Given the description of an element on the screen output the (x, y) to click on. 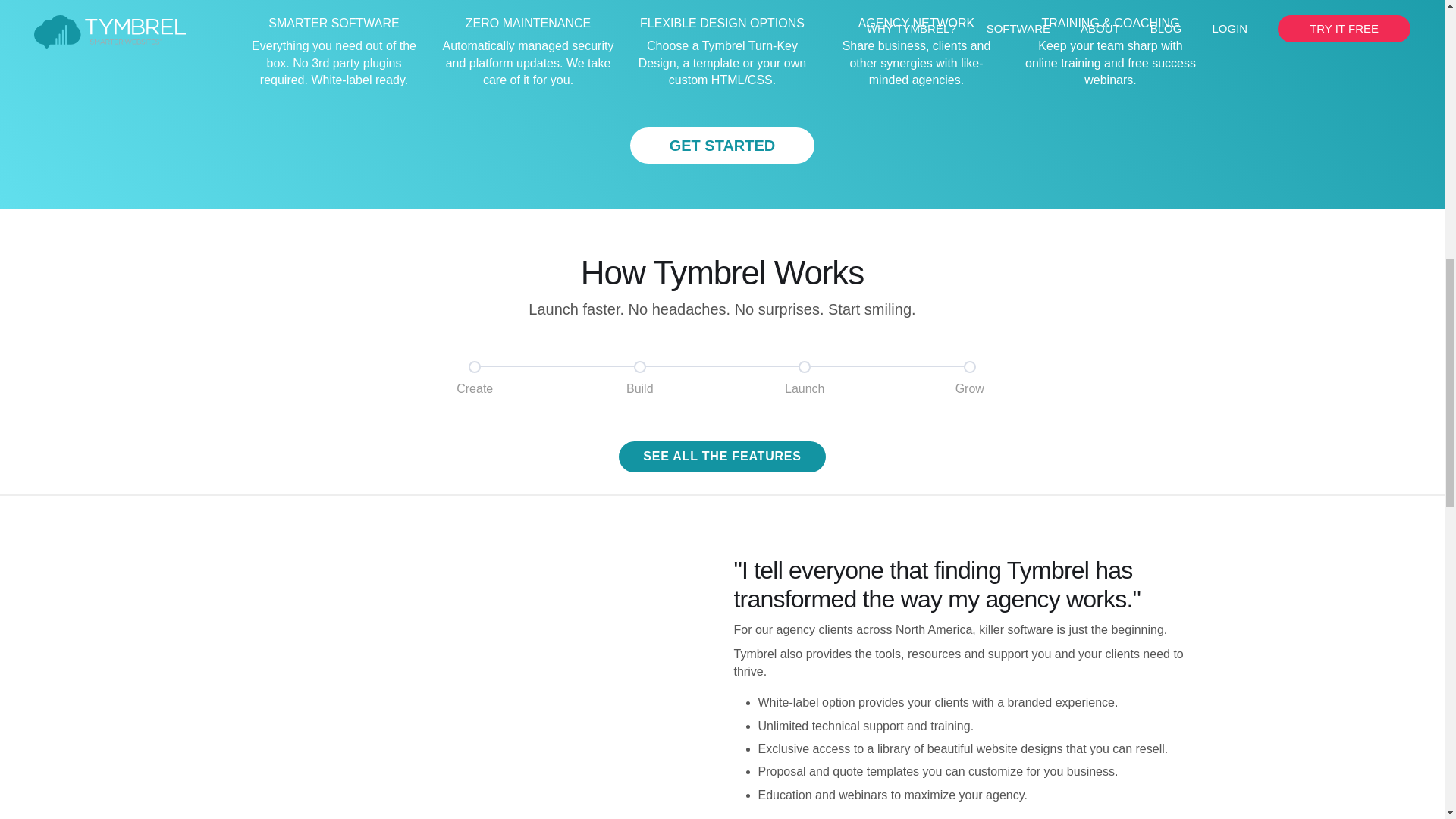
GET STARTED (722, 145)
SEE ALL THE FEATURES (721, 456)
Build (639, 377)
Free Trial, Tymbrel Smarter Websites (722, 145)
Grow (969, 377)
Create (475, 377)
Launch (804, 377)
